Given the description of an element on the screen output the (x, y) to click on. 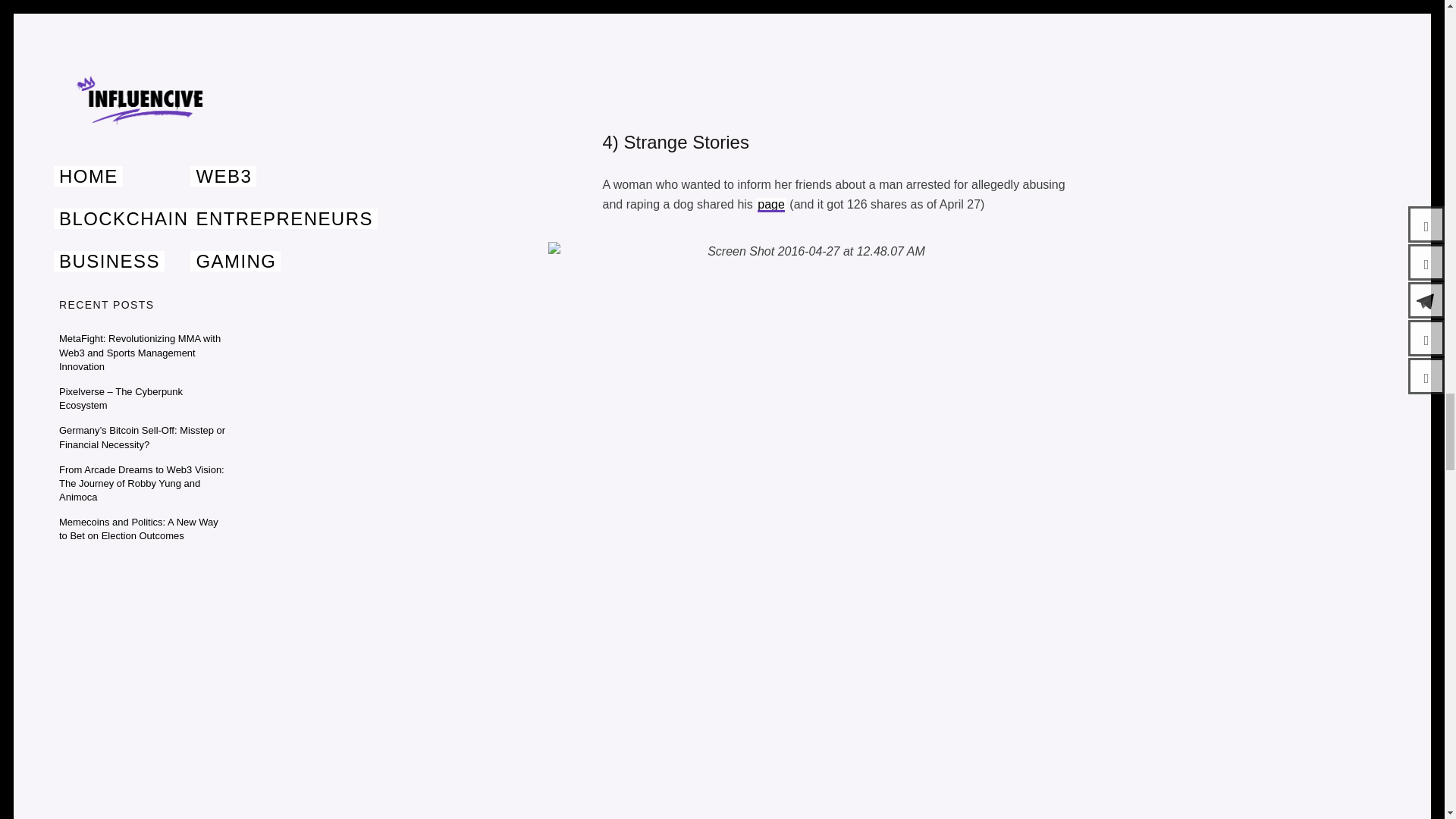
page (770, 204)
